Given the description of an element on the screen output the (x, y) to click on. 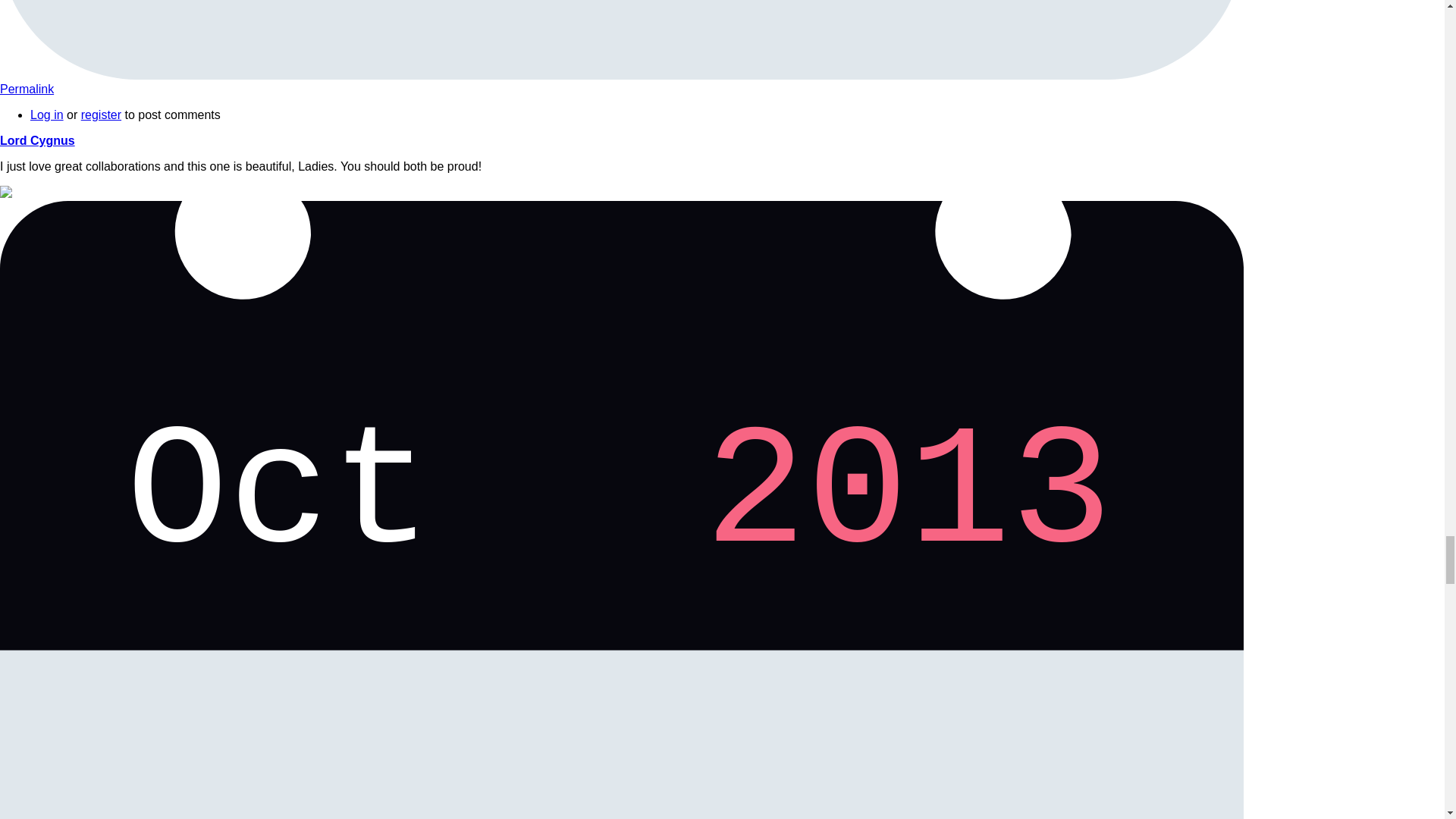
View user profile. (621, 39)
